Given the description of an element on the screen output the (x, y) to click on. 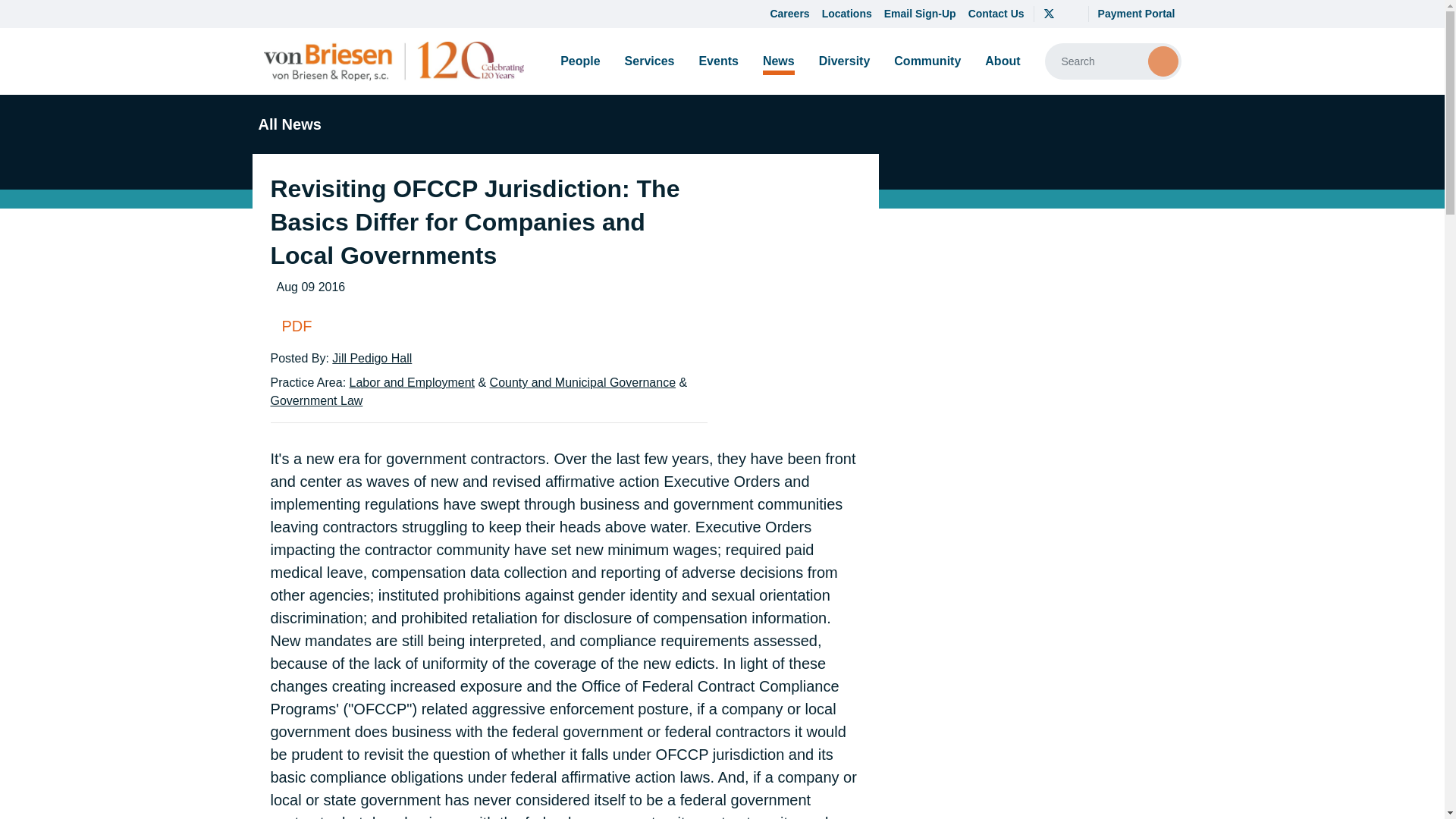
All News (285, 124)
Go to home page (393, 60)
Services (649, 60)
Labor and Employment (411, 382)
Search (1162, 60)
Contact Us (996, 13)
About (1002, 60)
People (579, 60)
PDF (488, 325)
Payment Portal (1136, 13)
